Given the description of an element on the screen output the (x, y) to click on. 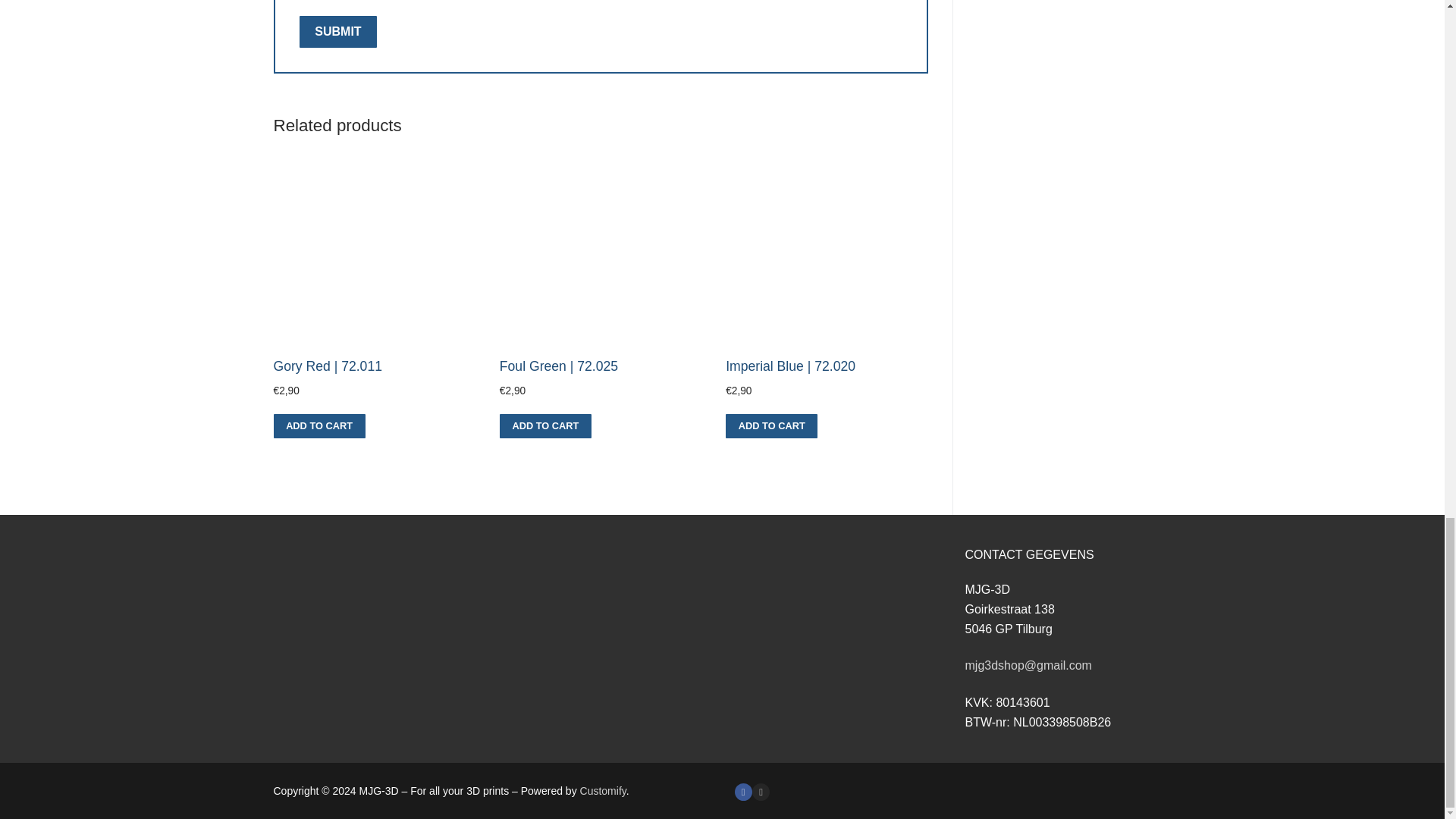
Submit (337, 31)
